Given the description of an element on the screen output the (x, y) to click on. 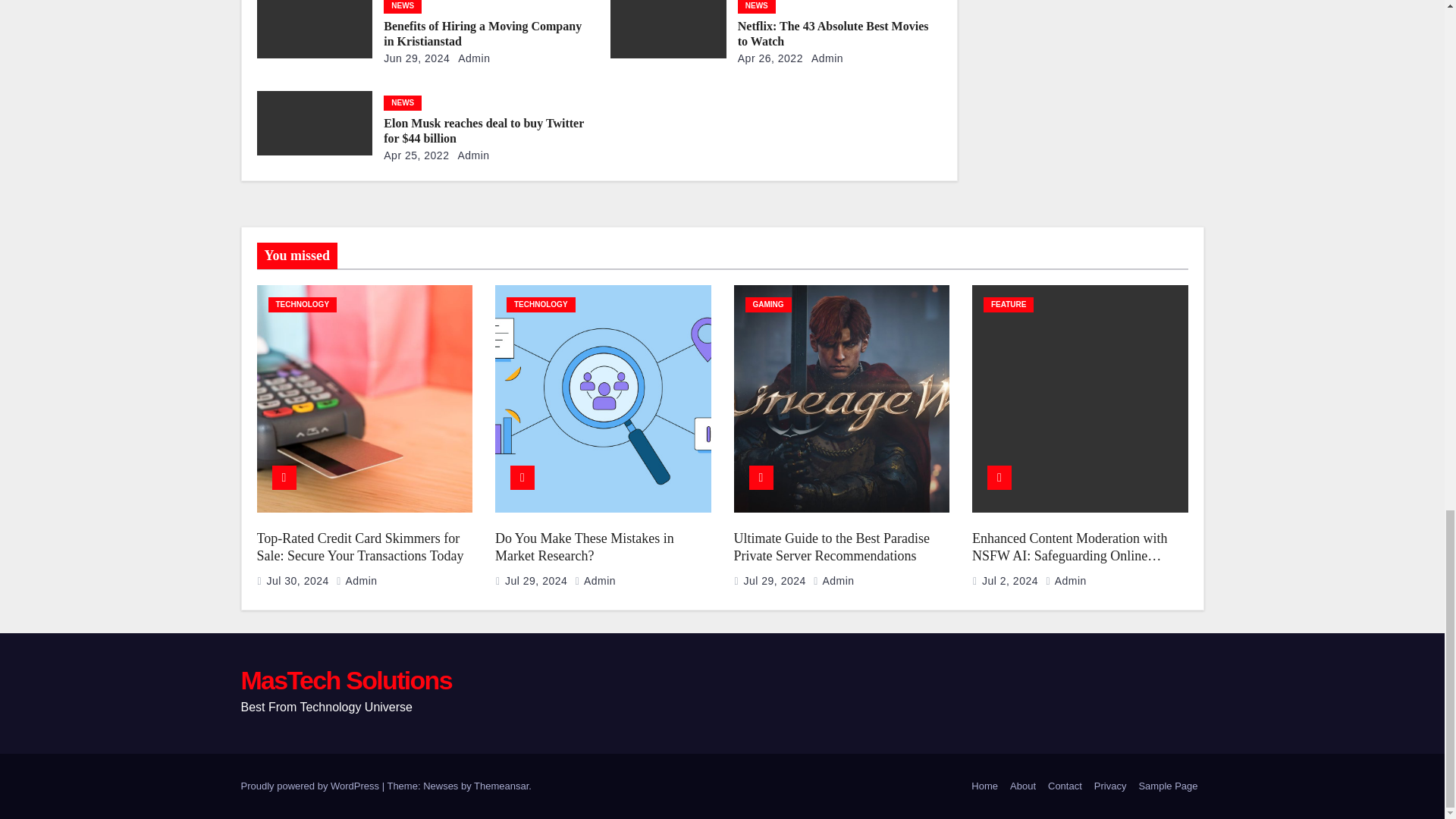
Netflix: The 43 Absolute Best Movies to Watch (833, 33)
Benefits of Hiring a Moving Company in Kristianstad (482, 33)
Admin (471, 58)
Permalink to: Netflix: The 43 Absolute Best Movies to Watch (833, 33)
Apr 25, 2022 (416, 155)
NEWS (757, 6)
NEWS (403, 6)
Apr 26, 2022 (770, 58)
